Given the description of an element on the screen output the (x, y) to click on. 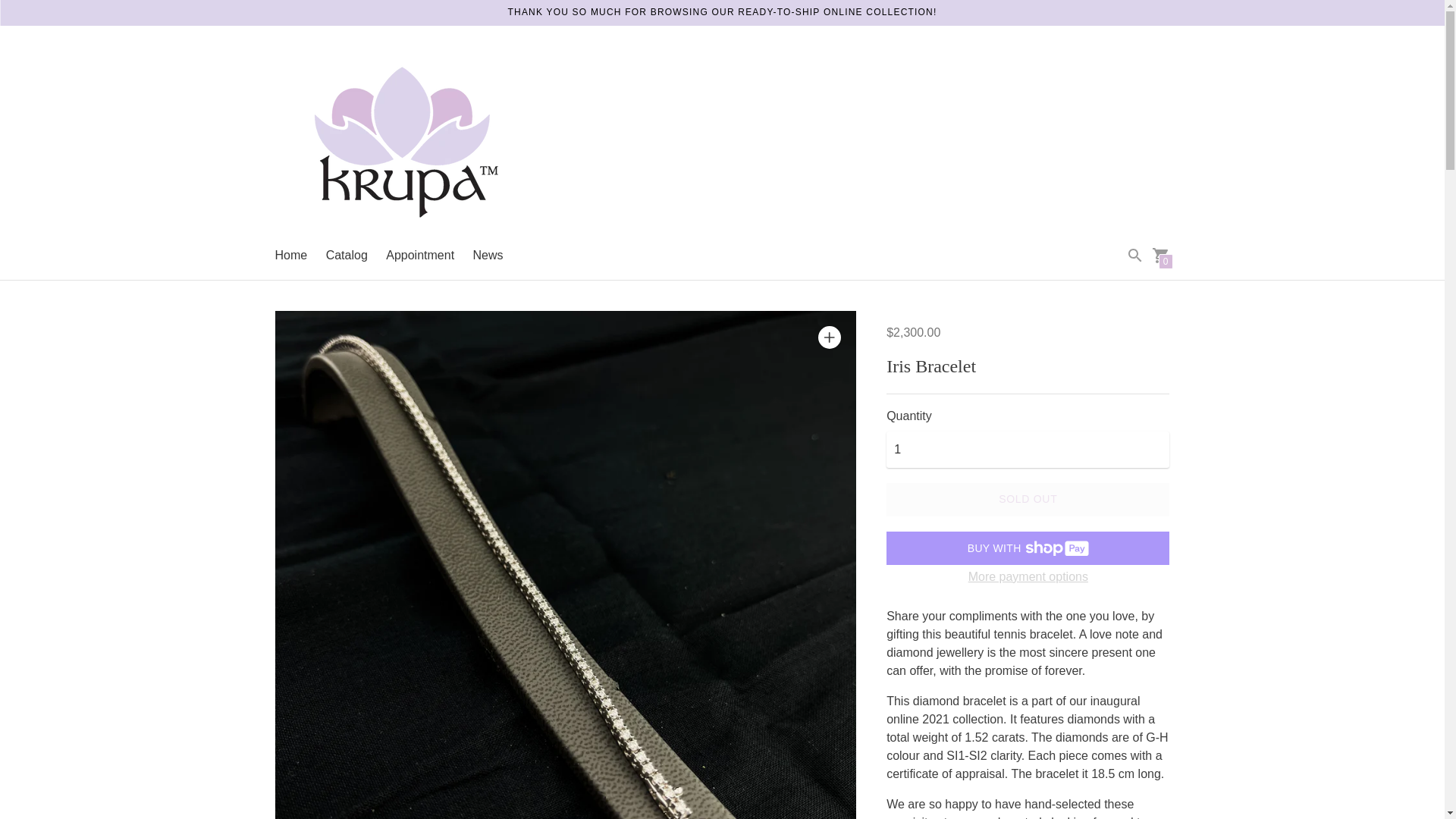
Home (291, 254)
News (488, 254)
Catalog (347, 254)
1 (1027, 449)
Appointment (419, 254)
0 (1160, 254)
